Given the description of an element on the screen output the (x, y) to click on. 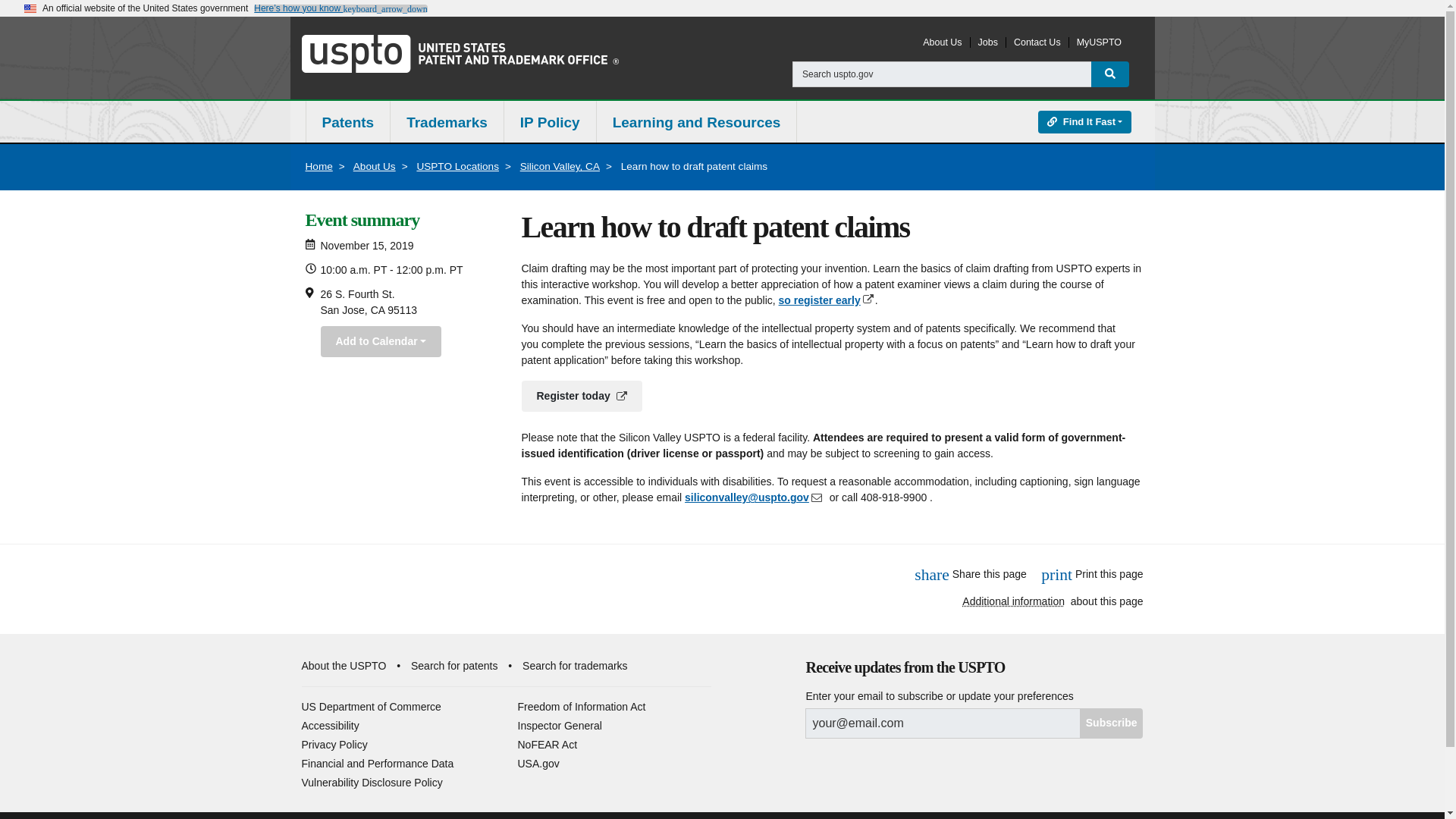
Patents (347, 122)
MyUSPTO (1098, 41)
About Us (942, 41)
Trademarks (446, 122)
Jobs (987, 41)
USPTO - United States Patent and Trademark Office (459, 53)
Contact Us (1037, 41)
Search (1109, 73)
Search uspto.gov (942, 73)
